Given the description of an element on the screen output the (x, y) to click on. 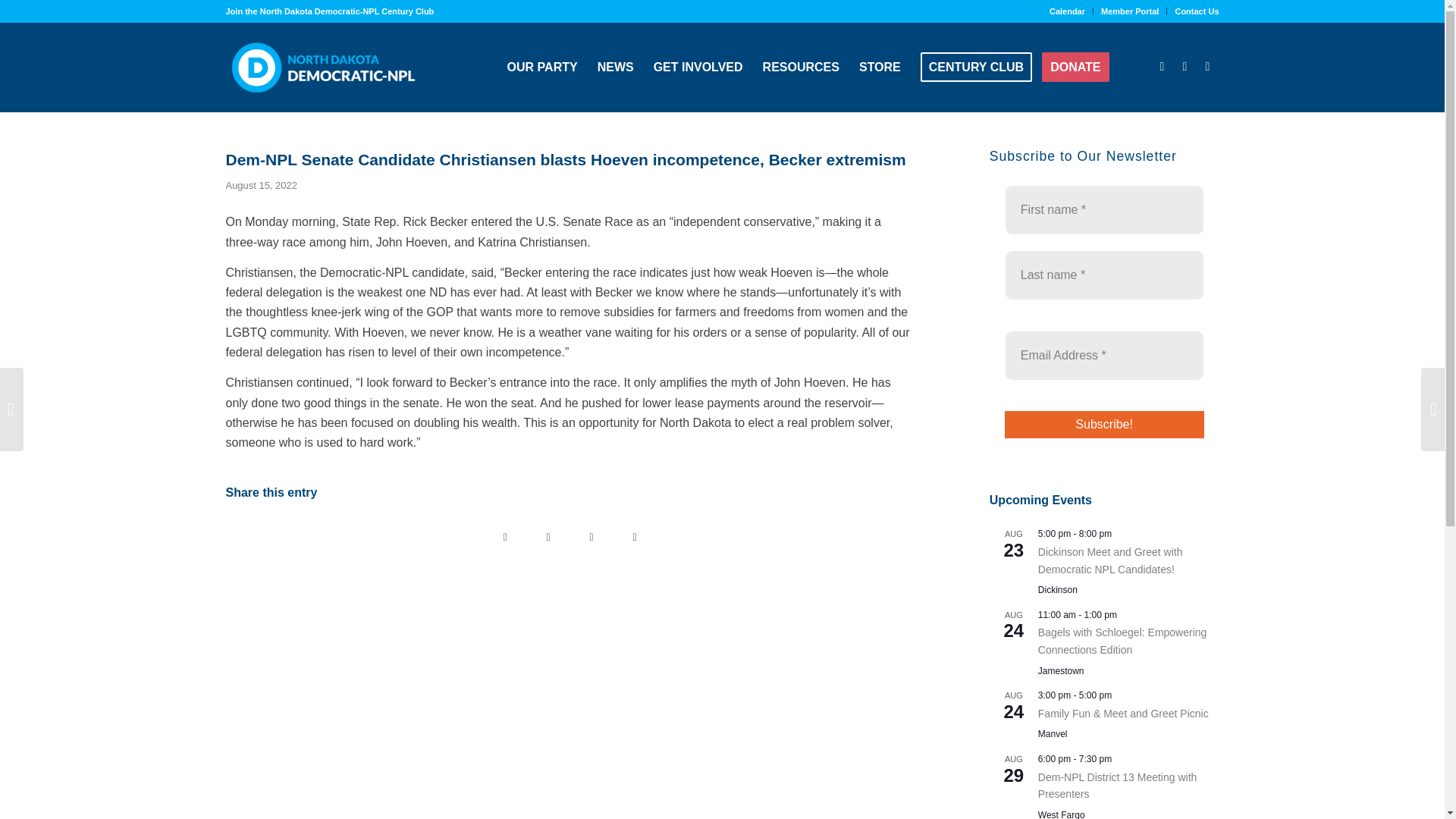
Facebook (1162, 66)
CENTURY CLUB (976, 67)
GET INVOLVED (697, 67)
RESOURCES (800, 67)
Last name (1104, 275)
Join the North Dakota Democratic-NPL Century Club (329, 10)
Subscribe! (1104, 424)
First name (1104, 210)
Subscribe! (1104, 424)
Email Address (1104, 355)
